Given the description of an element on the screen output the (x, y) to click on. 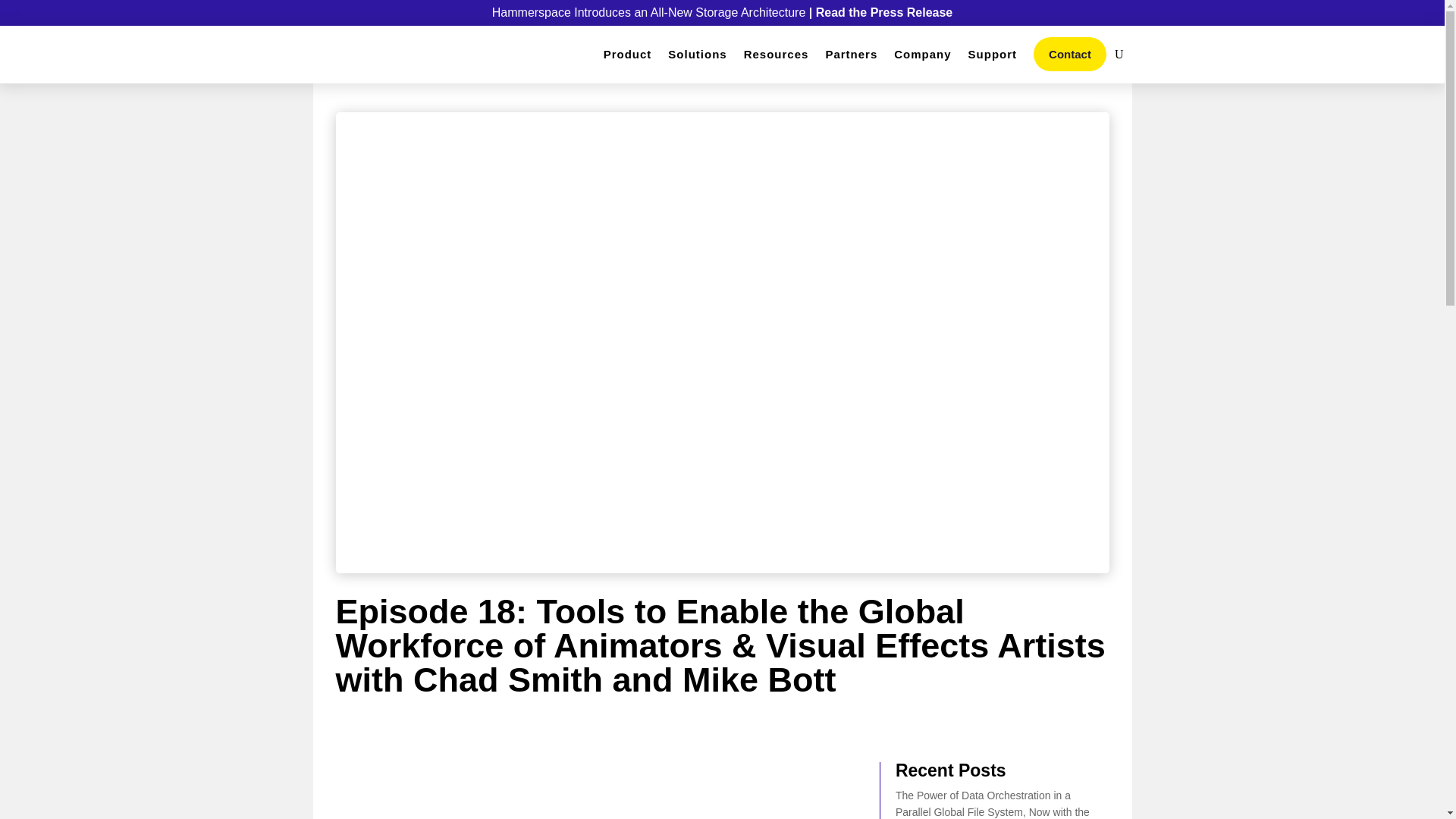
Resources (776, 54)
Partners (851, 54)
Company (921, 54)
Solutions (697, 54)
Product (628, 54)
